Given the description of an element on the screen output the (x, y) to click on. 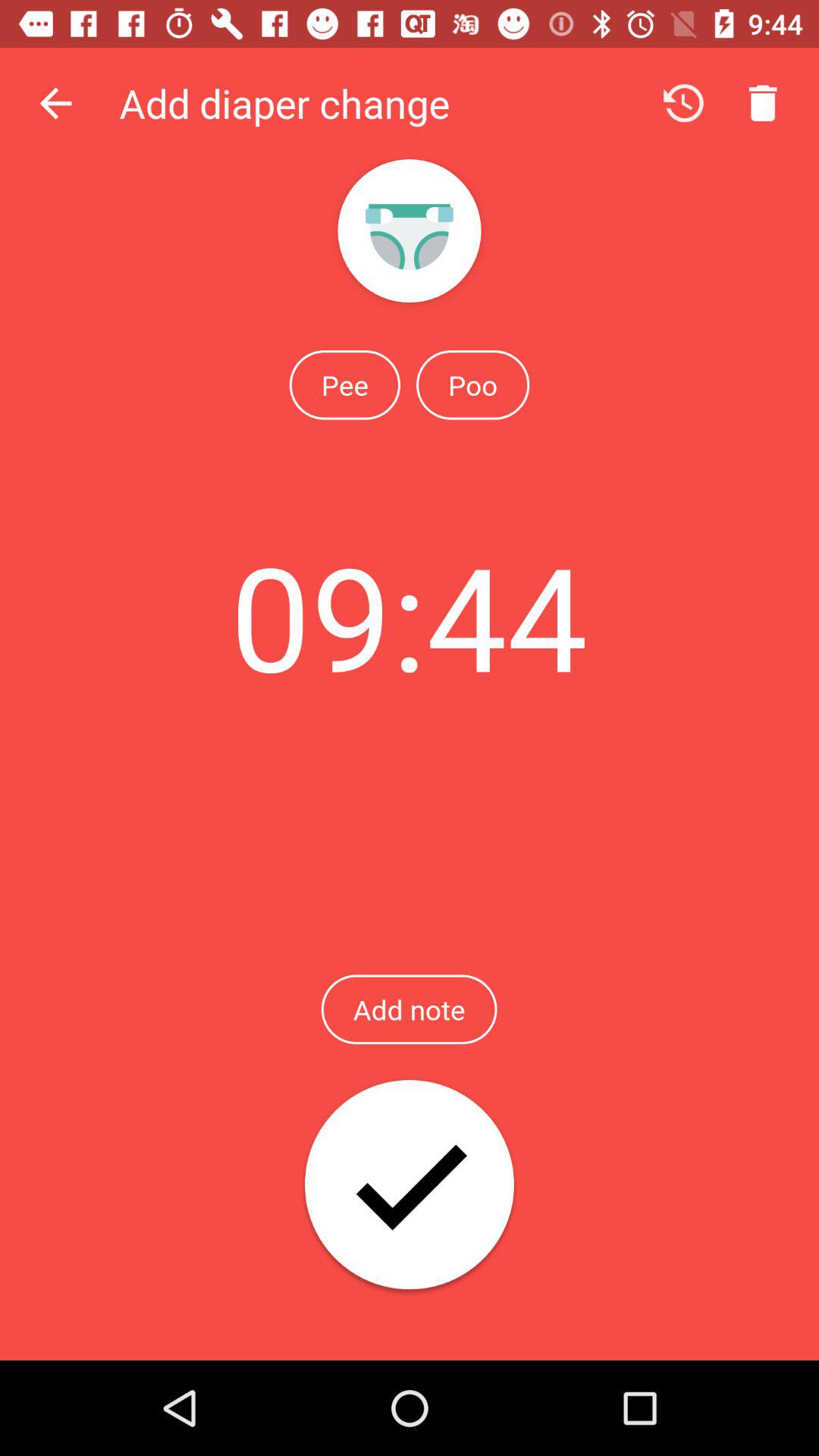
tap icon to the right of the pee icon (472, 384)
